Given the description of an element on the screen output the (x, y) to click on. 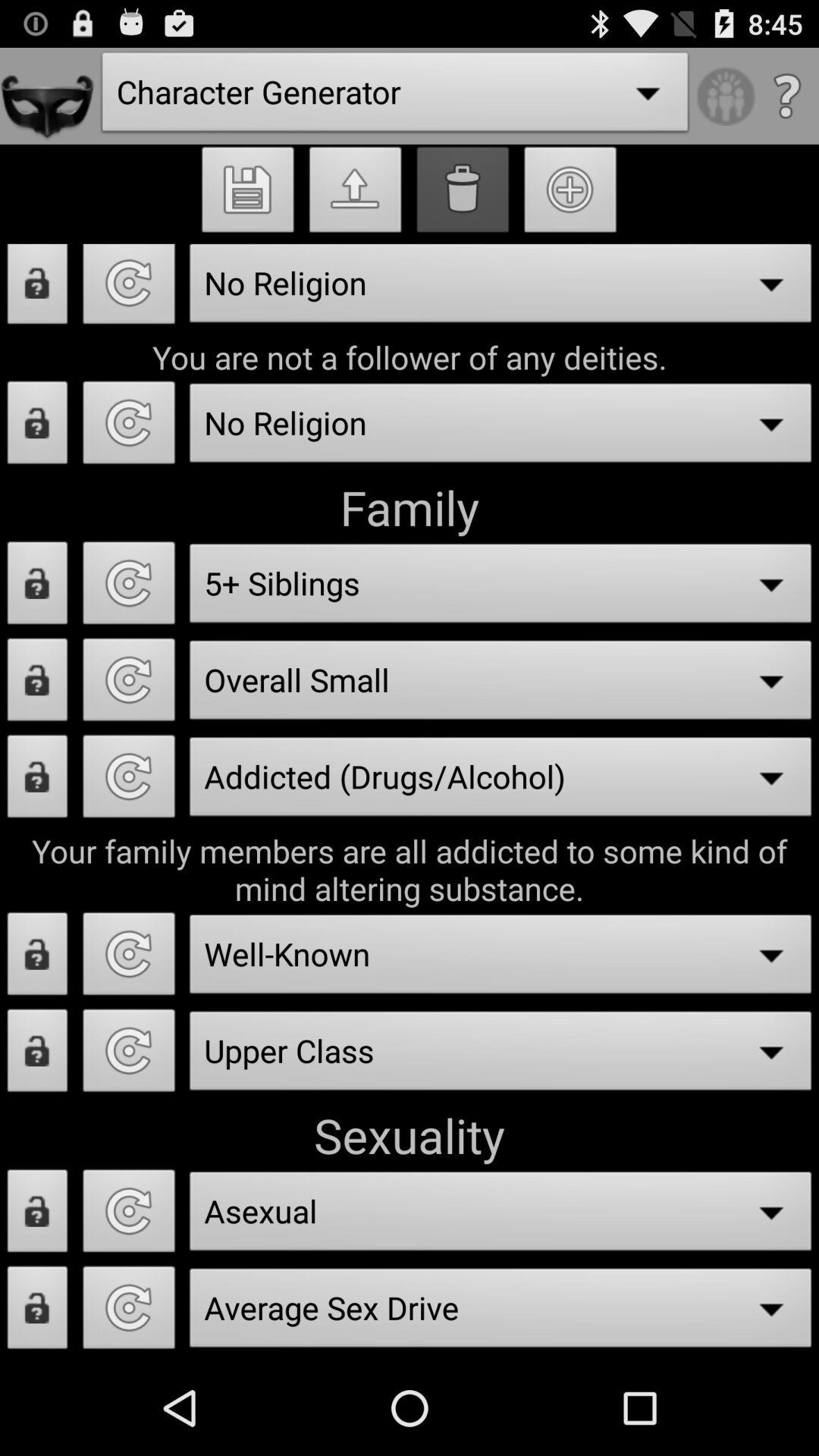
no religion (129, 289)
